Given the description of an element on the screen output the (x, y) to click on. 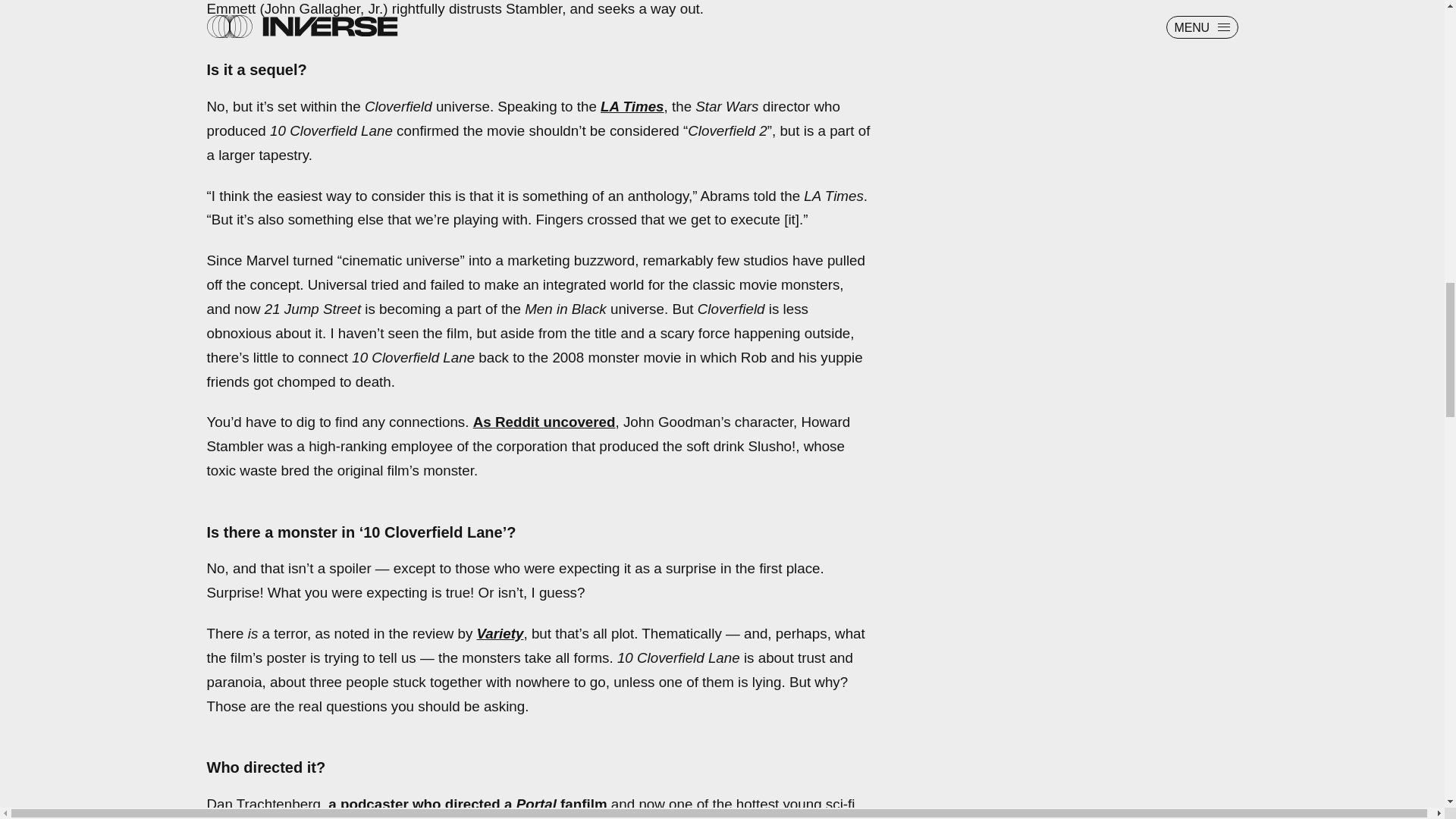
a podcaster who directed a Portal fanfilm (468, 804)
Variety (499, 633)
As Reddit uncovered (544, 421)
LA Times (631, 106)
